Given the description of an element on the screen output the (x, y) to click on. 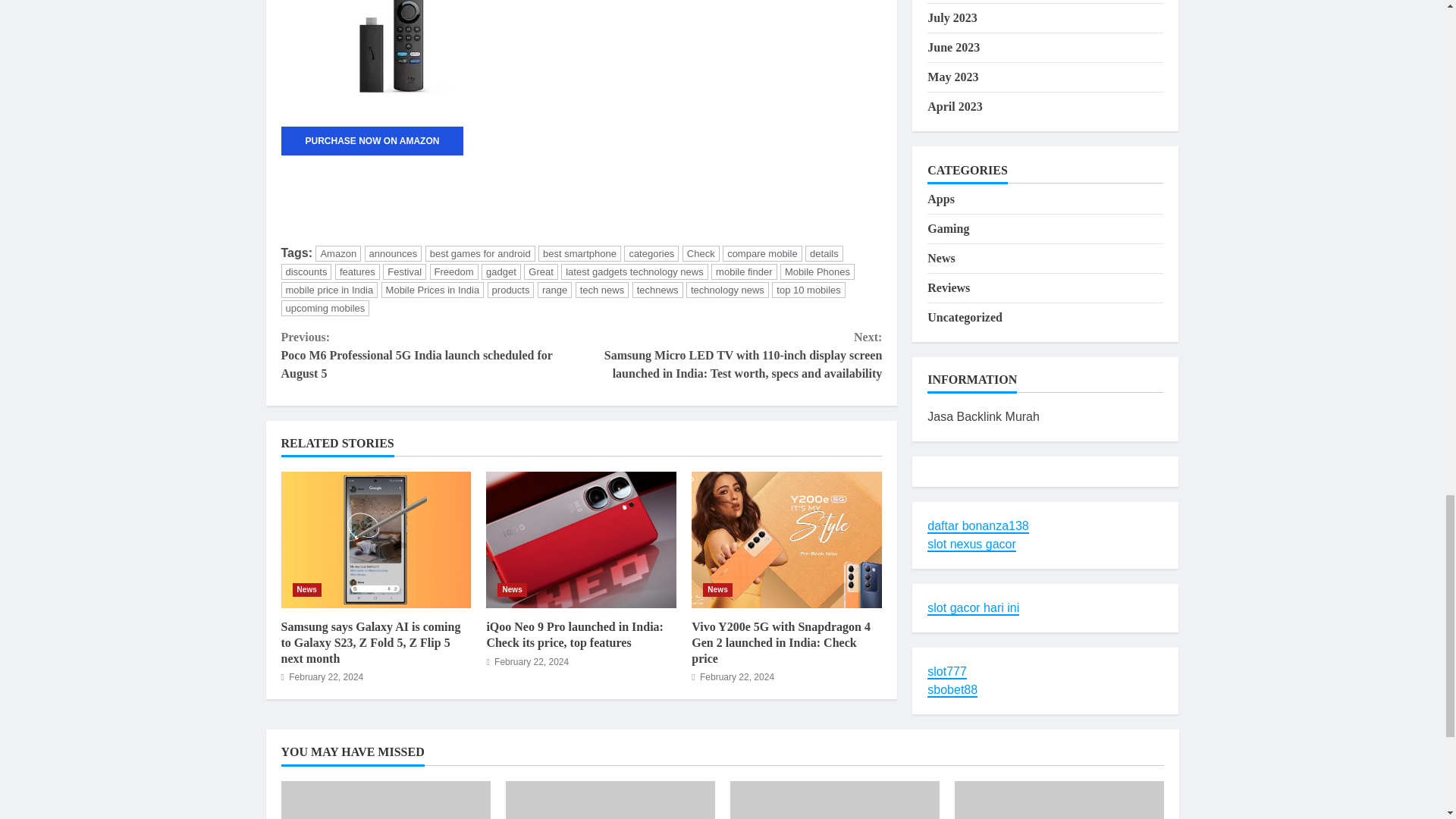
discounts (306, 271)
Festival (404, 271)
best smartphone (579, 253)
PURCHASE NOW ON AMAZON (372, 140)
Freedom (454, 271)
features (357, 271)
best games for android (480, 253)
categories (651, 253)
